Given the description of an element on the screen output the (x, y) to click on. 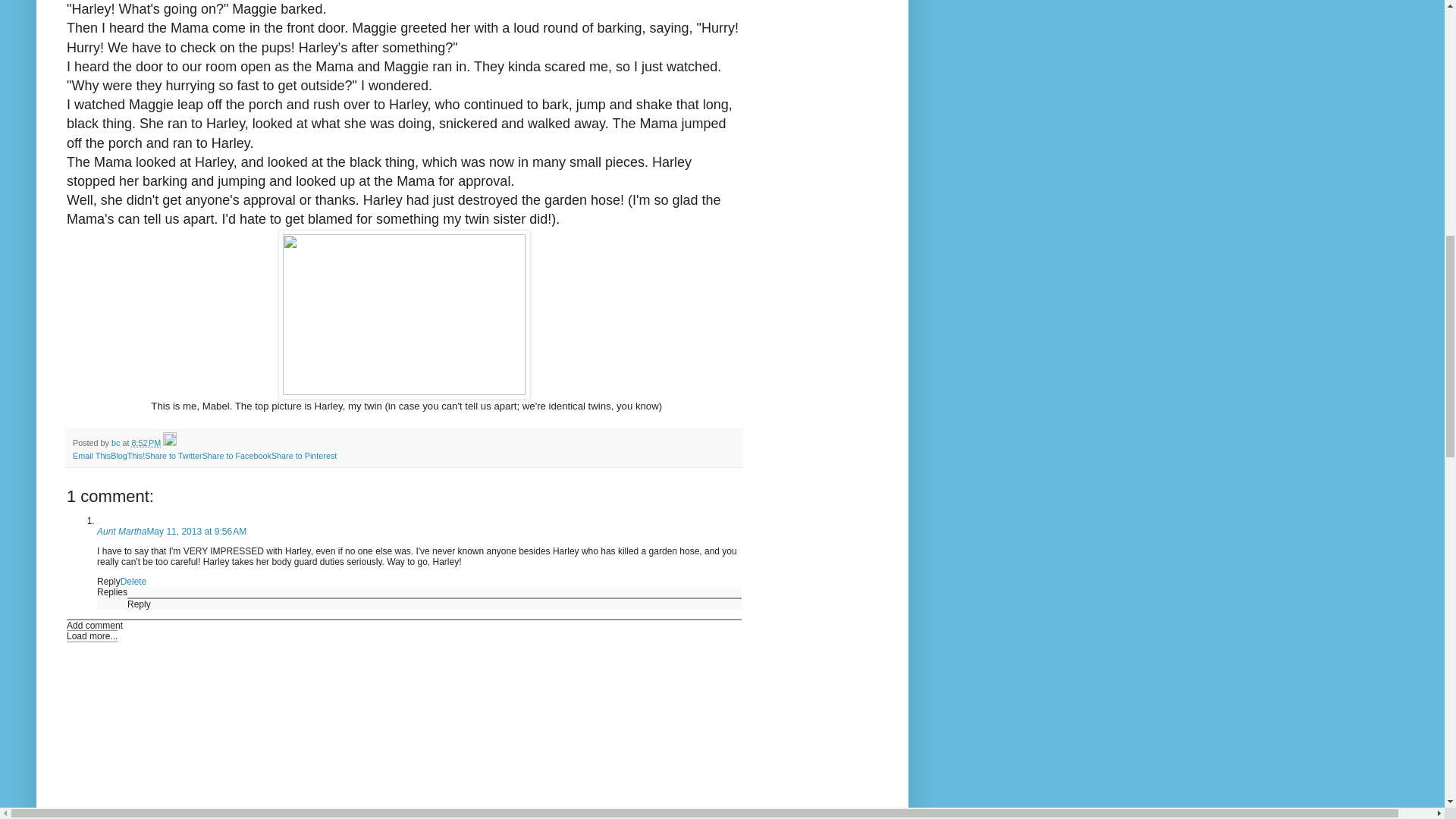
Email This (91, 455)
Share to Twitter (173, 455)
Share to Pinterest (303, 455)
Replies (112, 592)
BlogThis! (127, 455)
Share to Facebook (236, 455)
Edit Post (169, 442)
author profile (117, 442)
Add comment (94, 624)
Load more... (91, 635)
Reply (108, 581)
Aunt Martha (122, 531)
permanent link (145, 442)
Share to Facebook (236, 455)
